Given the description of an element on the screen output the (x, y) to click on. 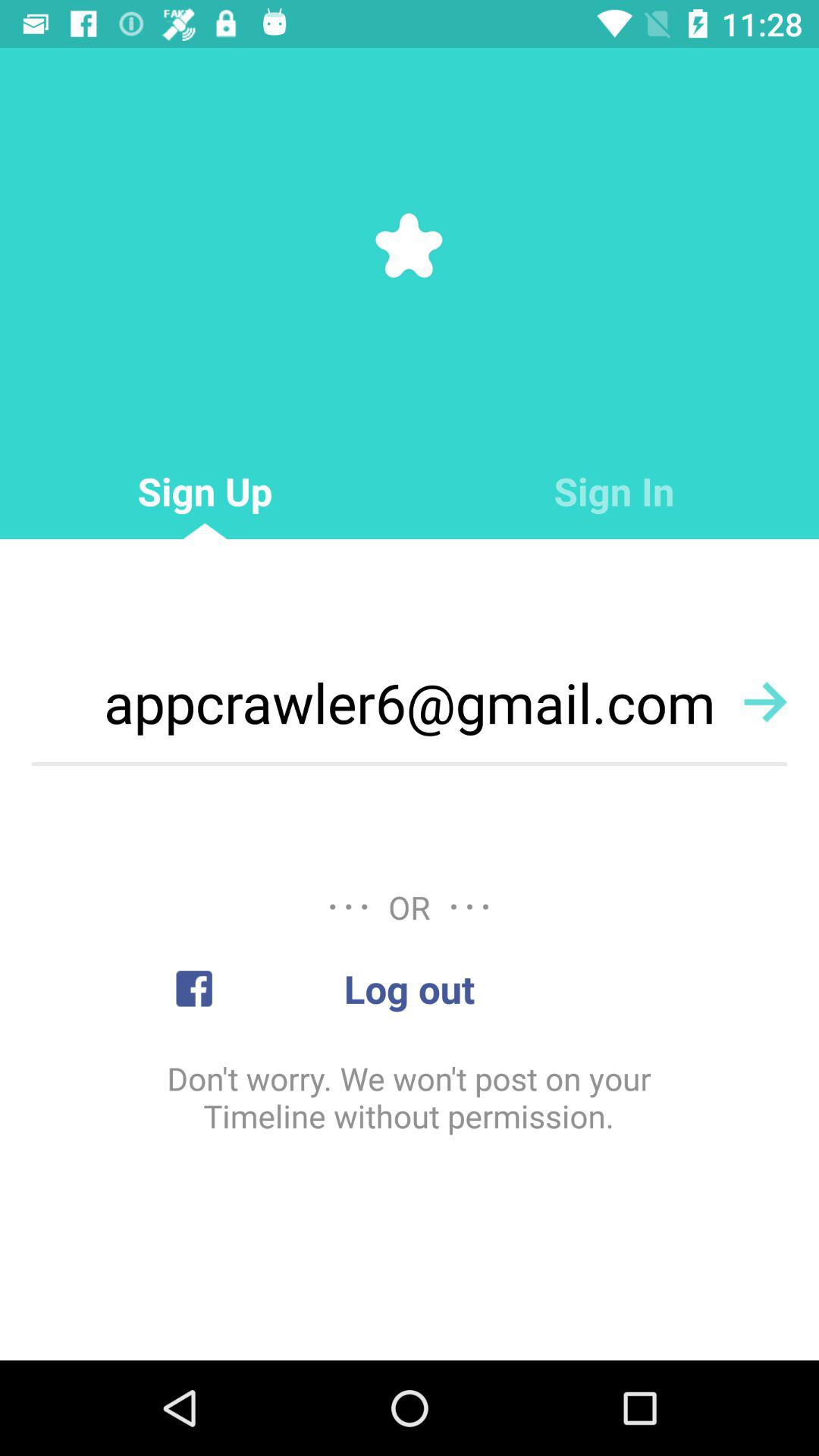
jump until sign in (614, 491)
